Given the description of an element on the screen output the (x, y) to click on. 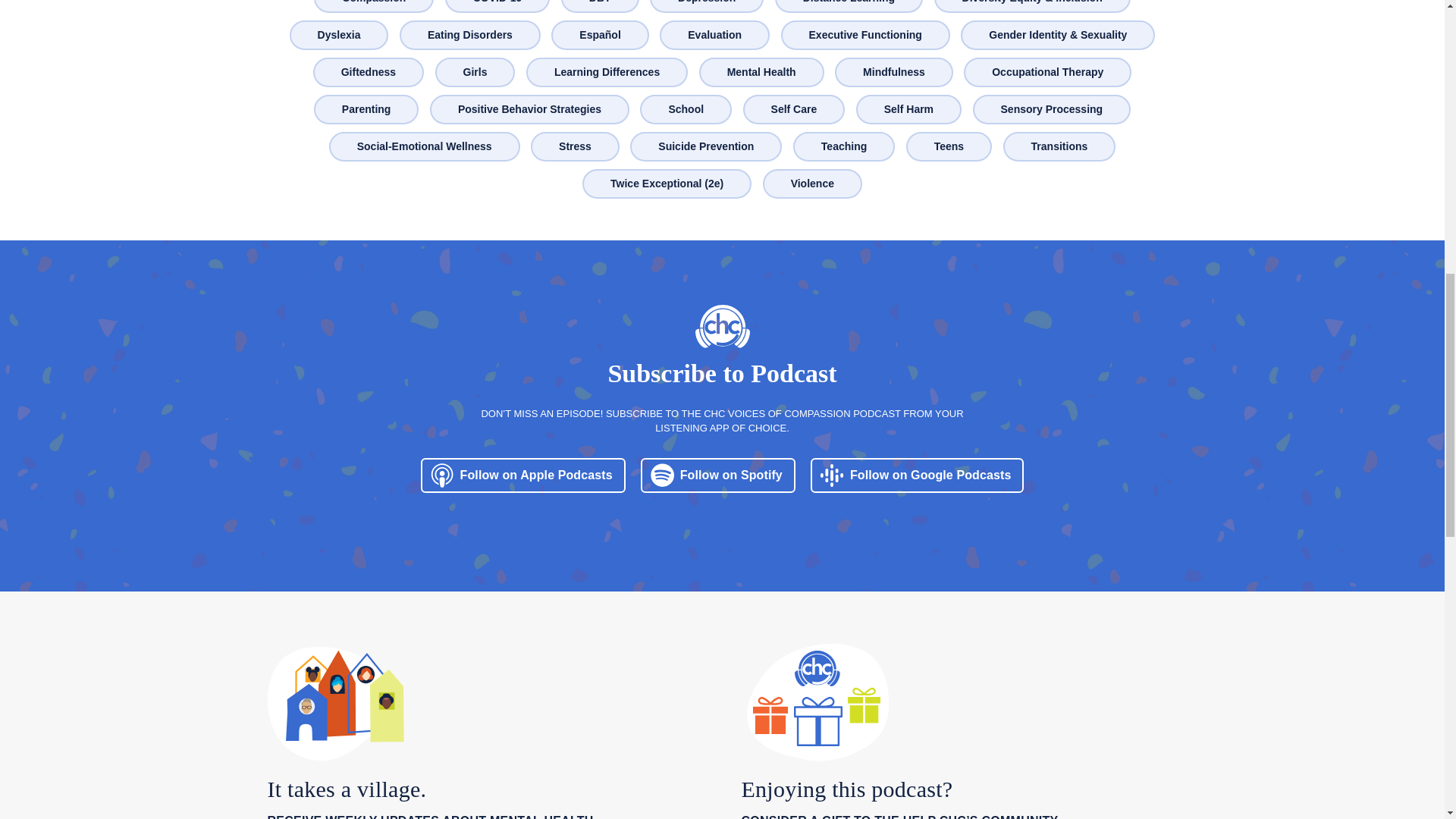
Dyslexia (339, 35)
View all episodes tagged 'Compassion'. (374, 8)
COVID-19 (497, 8)
Depression (706, 8)
Compassion (374, 8)
DBT (600, 8)
View all episodes tagged 'COVID-19'. (497, 8)
Giftedness (368, 72)
Distance Learning (848, 8)
Eating Disorders (470, 35)
